Given the description of an element on the screen output the (x, y) to click on. 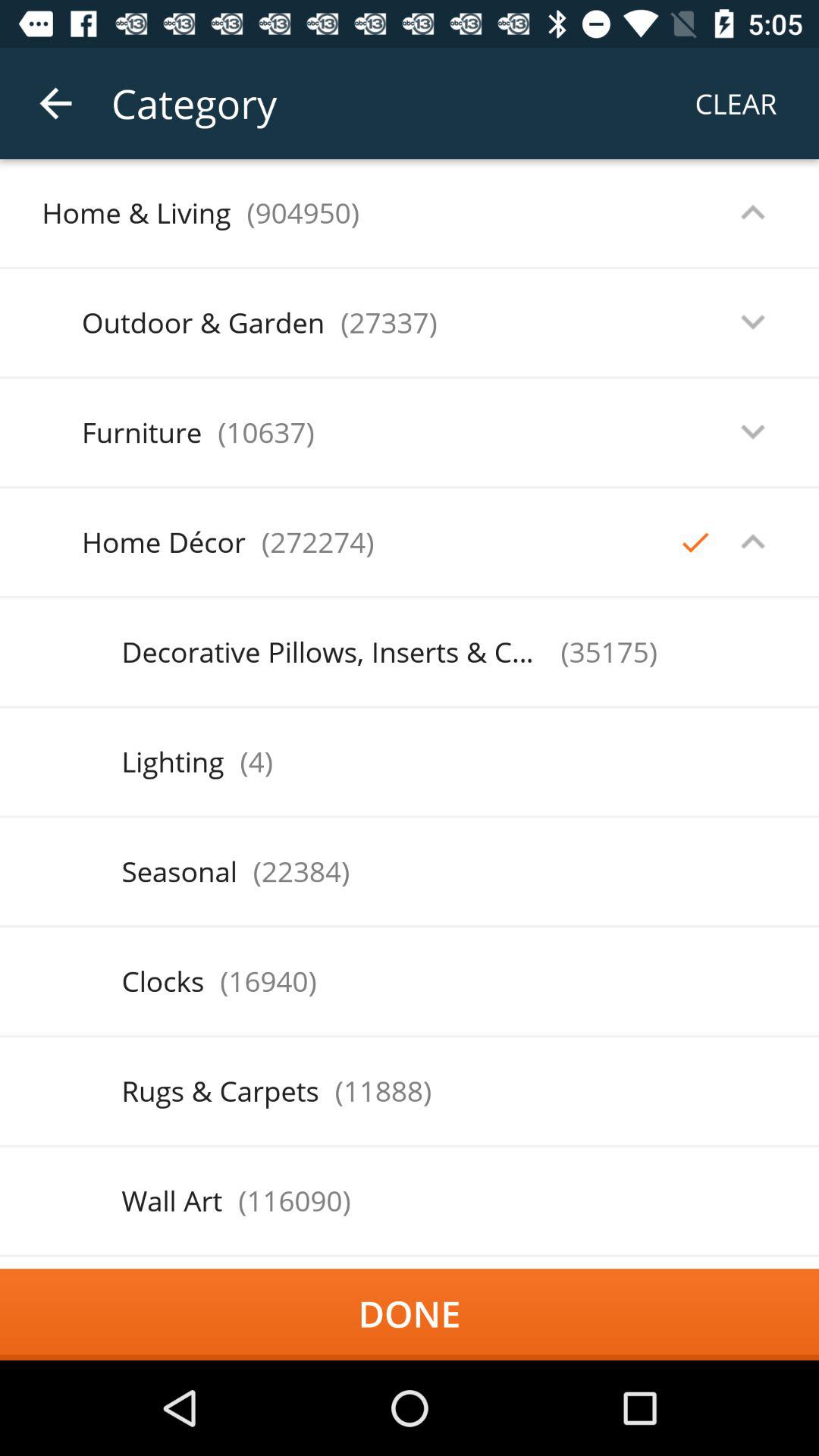
launch done (409, 1314)
